Given the description of an element on the screen output the (x, y) to click on. 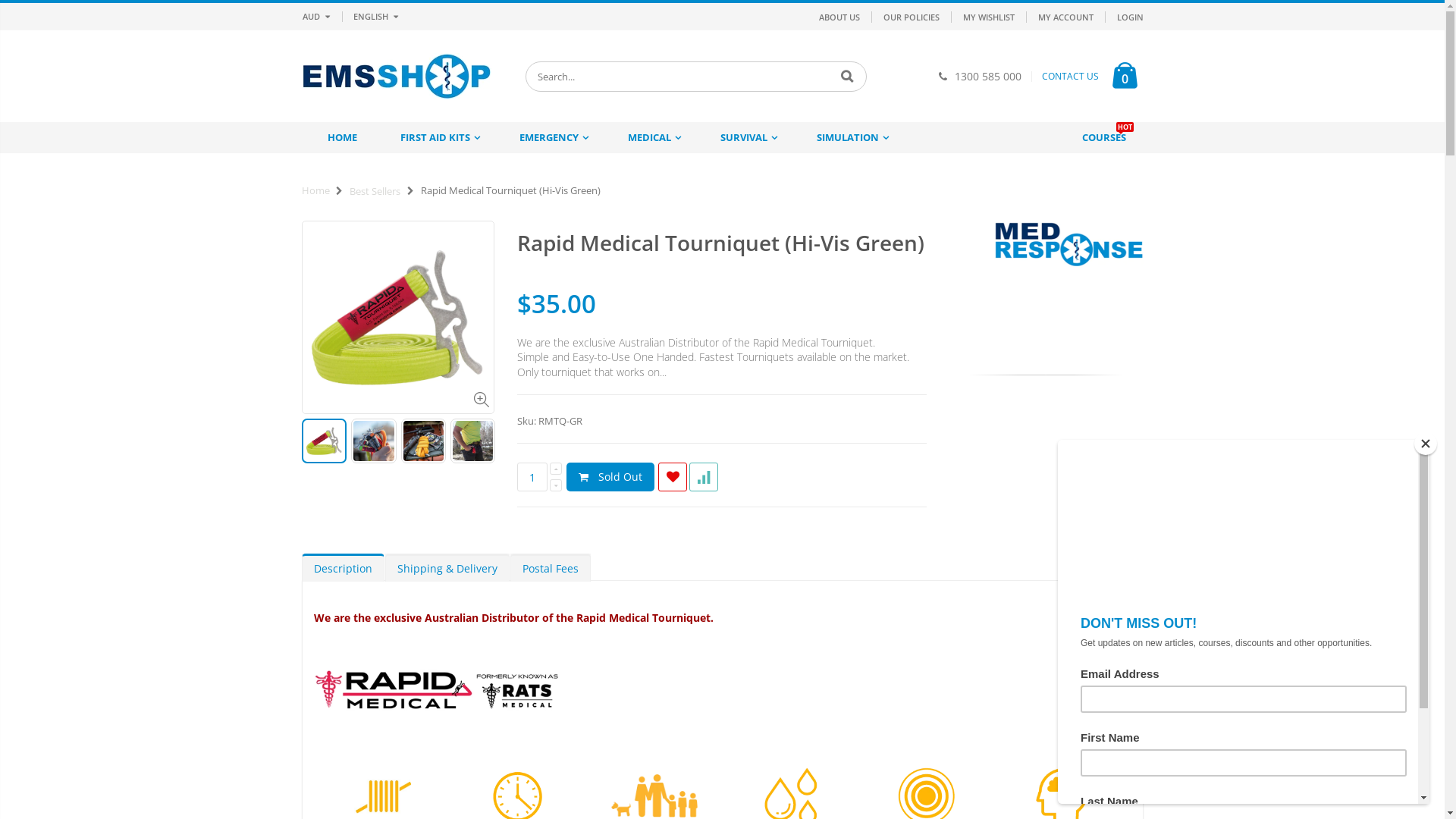
Rapid Medical Tourniquet (Hi-Vis Green) Element type: text (720, 242)
Shipping & Delivery Element type: text (447, 567)
AUD Element type: text (318, 16)
MY ACCOUNT Element type: text (1064, 16)
OUR POLICIES Element type: text (910, 16)
Postal Fees Element type: text (549, 567)
Sold Out Element type: text (610, 476)
ABOUT US Element type: text (839, 16)
Search Element type: text (847, 76)
Add to compare Element type: hover (703, 476)
ENGLISH Element type: text (373, 16)
CONTACT US Element type: text (1069, 76)
Best Sellers Element type: text (374, 190)
LOGIN Element type: text (1129, 16)
COURSES
HOT Element type: text (1102, 137)
Add to wishlist Element type: hover (672, 476)
MY WISHLIST Element type: text (988, 16)
0 Element type: text (1123, 75)
Home Element type: text (315, 190)
Description Element type: text (342, 567)
